Given the description of an element on the screen output the (x, y) to click on. 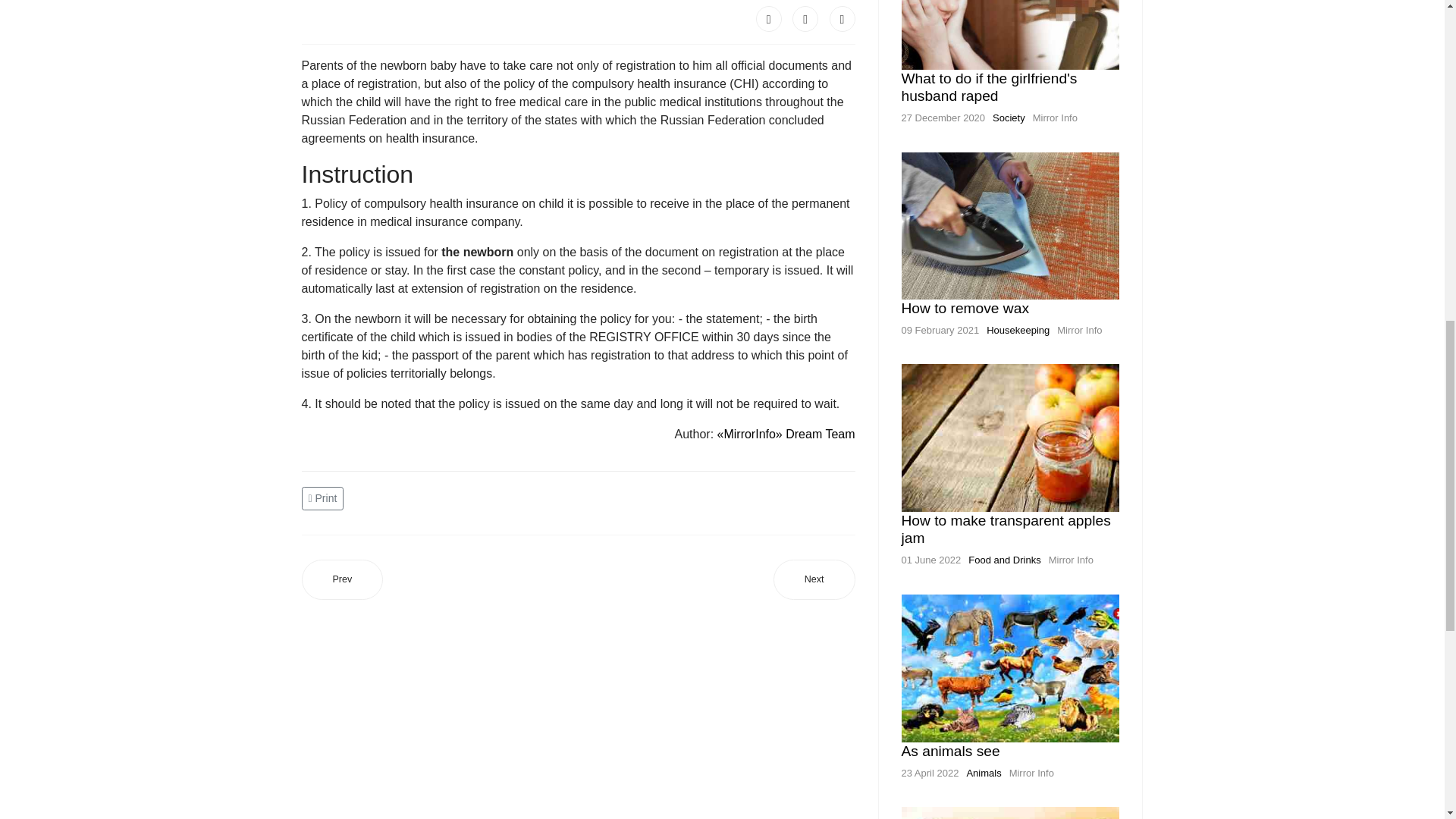
LinkedIn (842, 18)
Housekeeping (1018, 329)
Society (1008, 117)
Next (814, 579)
Print (324, 497)
Twitter (805, 18)
What to do if the girlfriend's husband raped (989, 87)
Facebook (768, 18)
How to remove wax (964, 308)
Prev (342, 579)
